Given the description of an element on the screen output the (x, y) to click on. 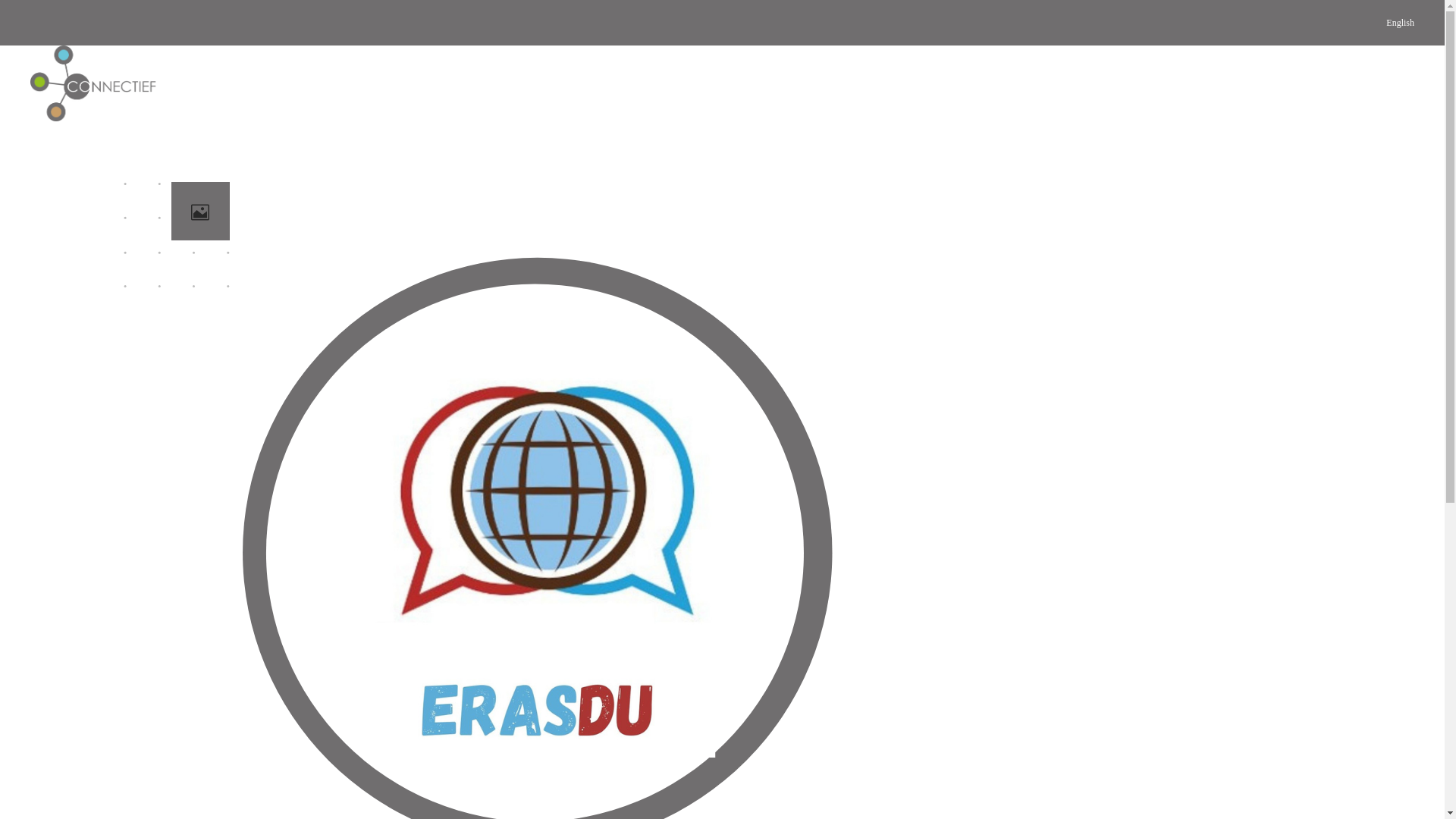
English Element type: text (1400, 22)
English Element type: text (1397, 82)
